Given the description of an element on the screen output the (x, y) to click on. 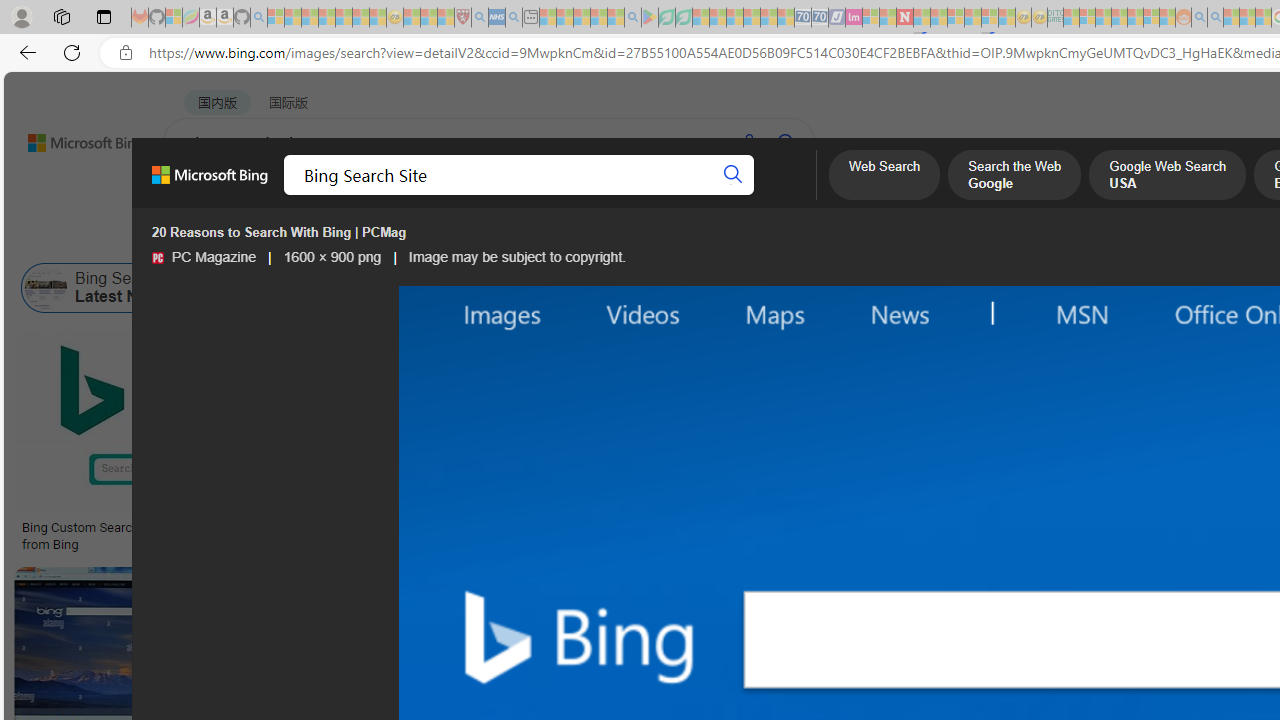
20 Reasons to Search With Bing | PCMag (1093, 528)
MY BING (276, 195)
License (665, 237)
Microsoft Bing, Back to Bing search (209, 183)
WEB (201, 195)
